Given the description of an element on the screen output the (x, y) to click on. 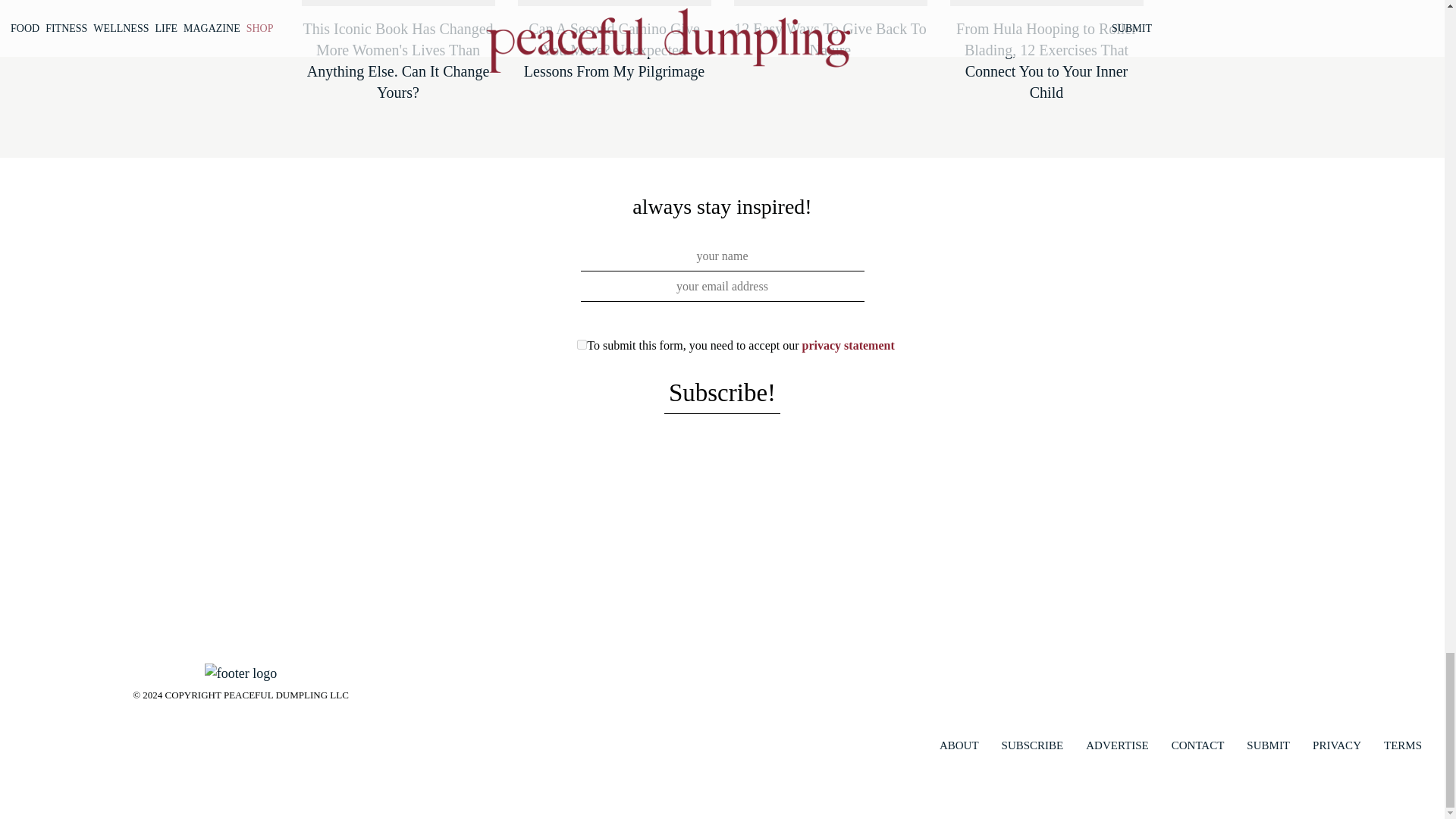
Peaceful Dumpling (240, 672)
1 (581, 344)
Subscribe! (721, 393)
